Given the description of an element on the screen output the (x, y) to click on. 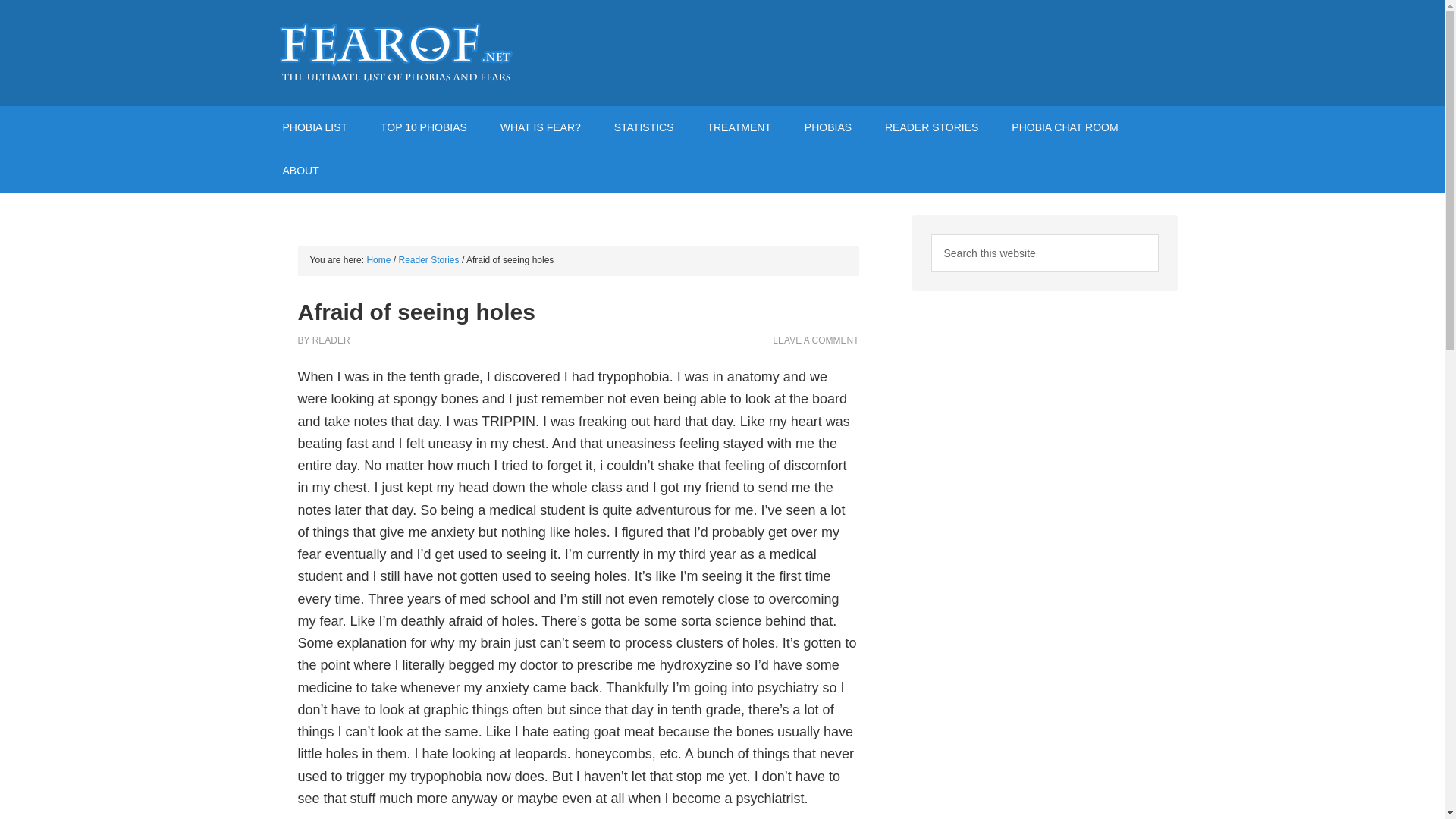
TREATMENT (738, 127)
WHAT IS FEAR? (539, 127)
PHOBIAS (827, 127)
FEAROF (395, 52)
PHOBIA CHAT ROOM (1063, 127)
TOP 10 PHOBIAS (423, 127)
ABOUT (299, 170)
PHOBIA LIST (314, 127)
STATISTICS (643, 127)
